Given the description of an element on the screen output the (x, y) to click on. 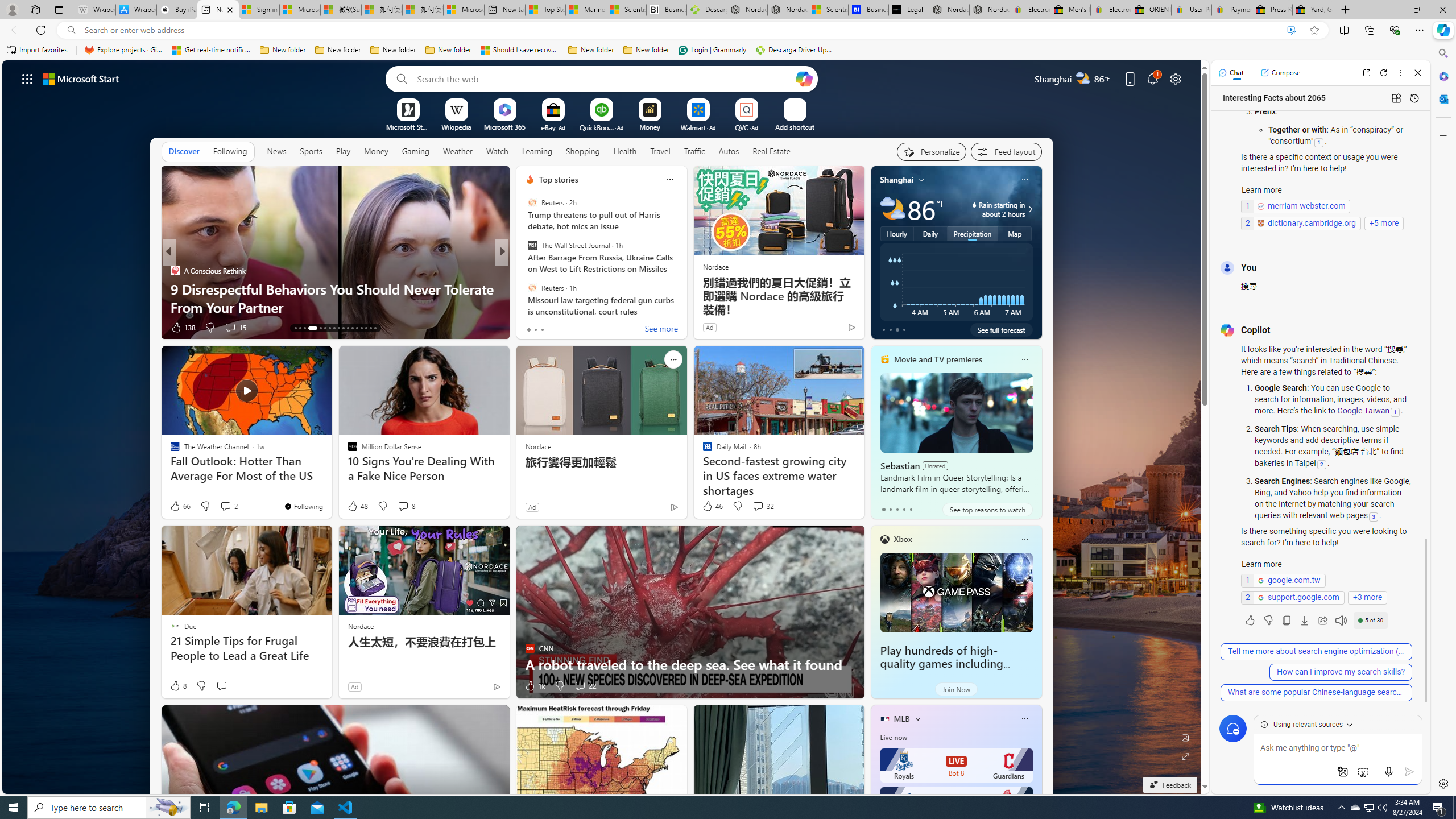
AutomationID: tab-24 (352, 328)
View comments 55 Comment (580, 327)
IT Concept (536, 288)
Top stories (558, 179)
198 Like (182, 327)
Import favorites (36, 49)
Earth Surpasses Key Benchmark For 12 Straight Months (684, 298)
